Given the description of an element on the screen output the (x, y) to click on. 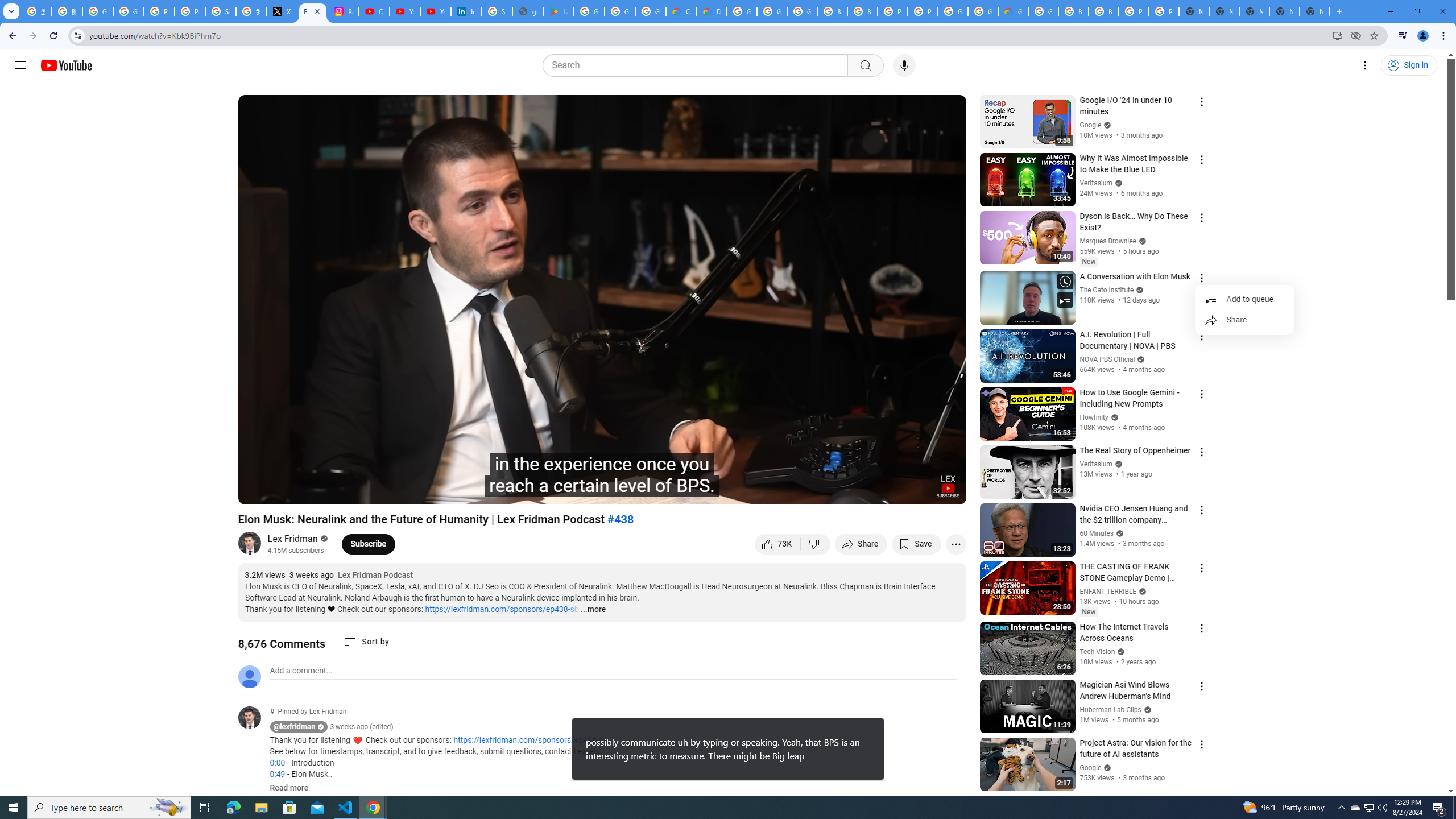
Save to playlist (915, 543)
Settings (1365, 65)
Google Cloud Estimate Summary (1012, 11)
Channel watermark (947, 486)
Subtitles/closed captions unavailable (836, 490)
Google Cloud Platform (982, 11)
Browse Chrome as a guest - Computer - Google Chrome Help (1103, 11)
Lex Fridman (292, 538)
Dislike this video (815, 543)
@lexfridman (253, 717)
Play (k) (257, 490)
